Given the description of an element on the screen output the (x, y) to click on. 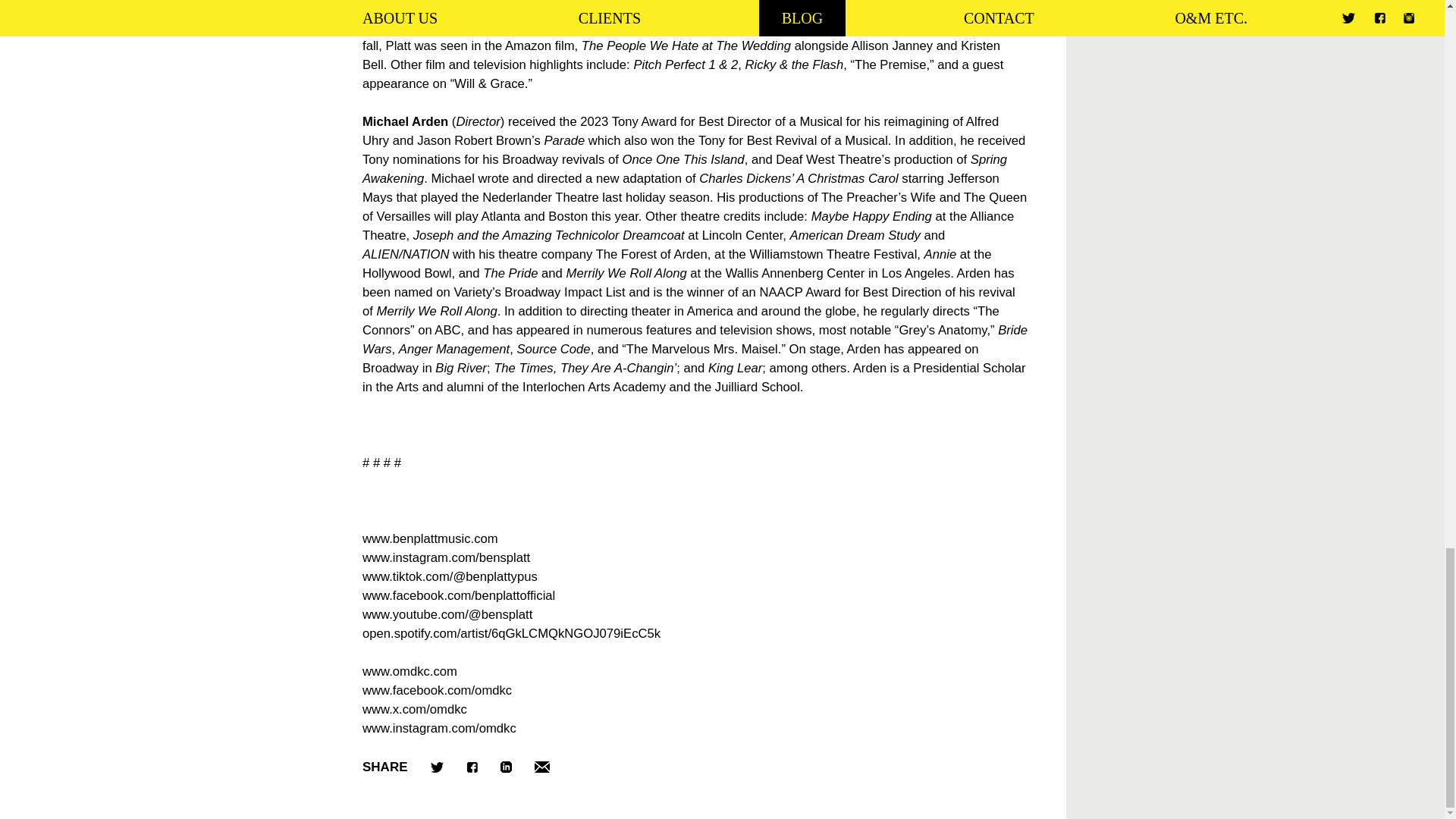
LinkedIn (506, 767)
Email (542, 767)
Facebook (471, 767)
Twitter (437, 767)
